Given the description of an element on the screen output the (x, y) to click on. 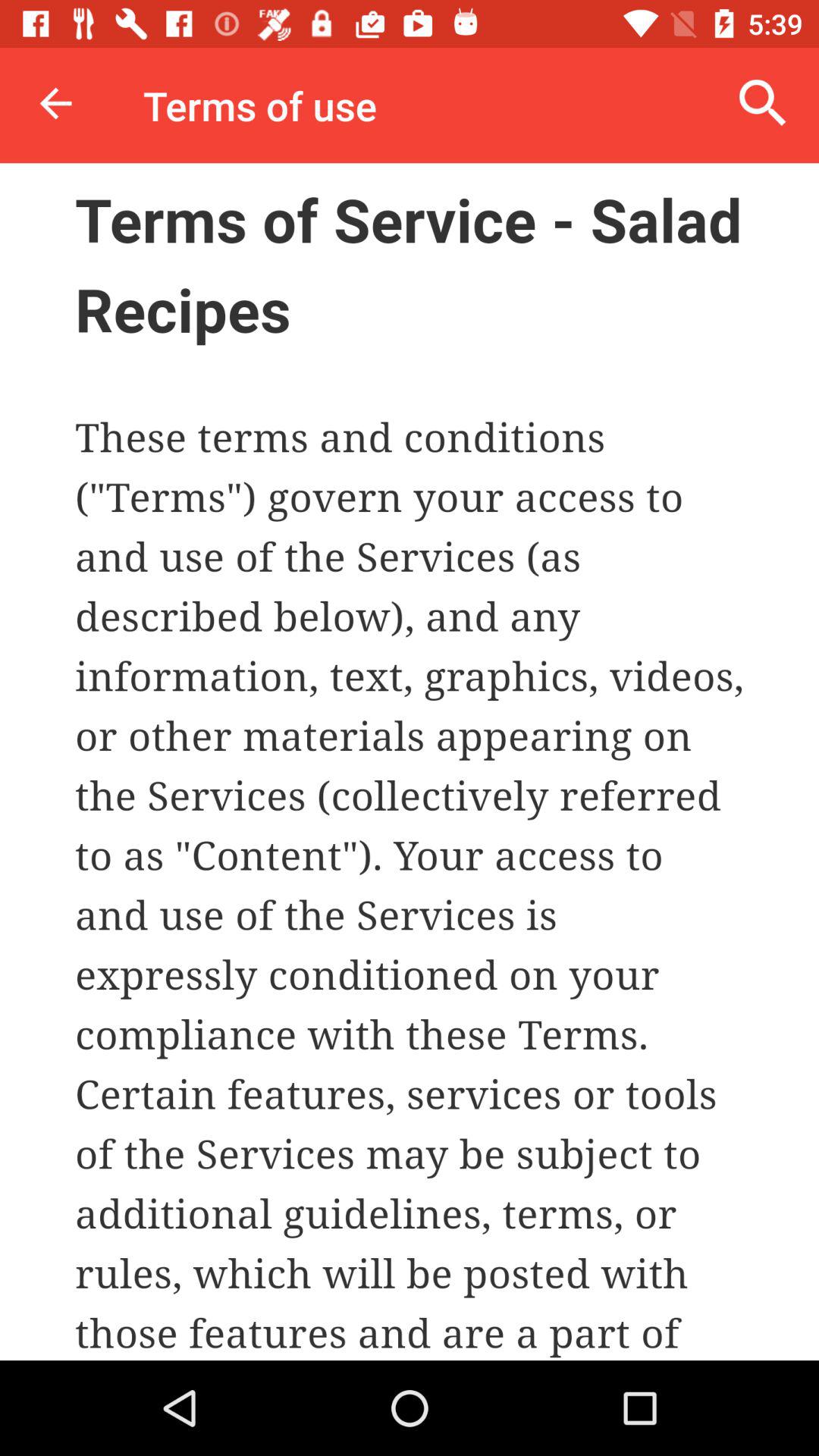
share the article (409, 761)
